Given the description of an element on the screen output the (x, y) to click on. 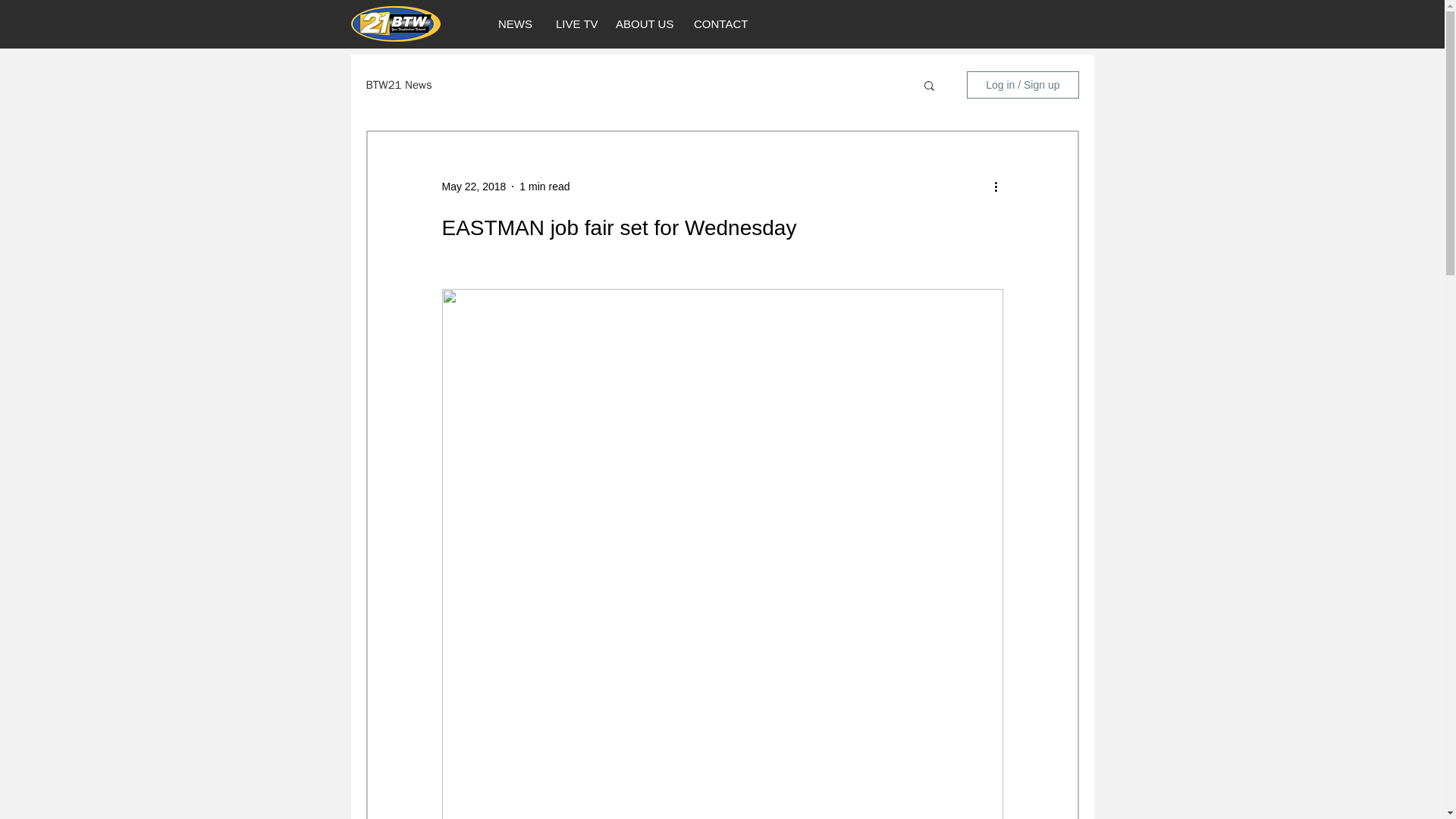
May 22, 2018 (473, 186)
LIVE TV (573, 24)
CONTACT (719, 24)
1 min read (544, 186)
ABOUT US (642, 24)
BTW21 News (397, 83)
NEWS (514, 24)
